Given the description of an element on the screen output the (x, y) to click on. 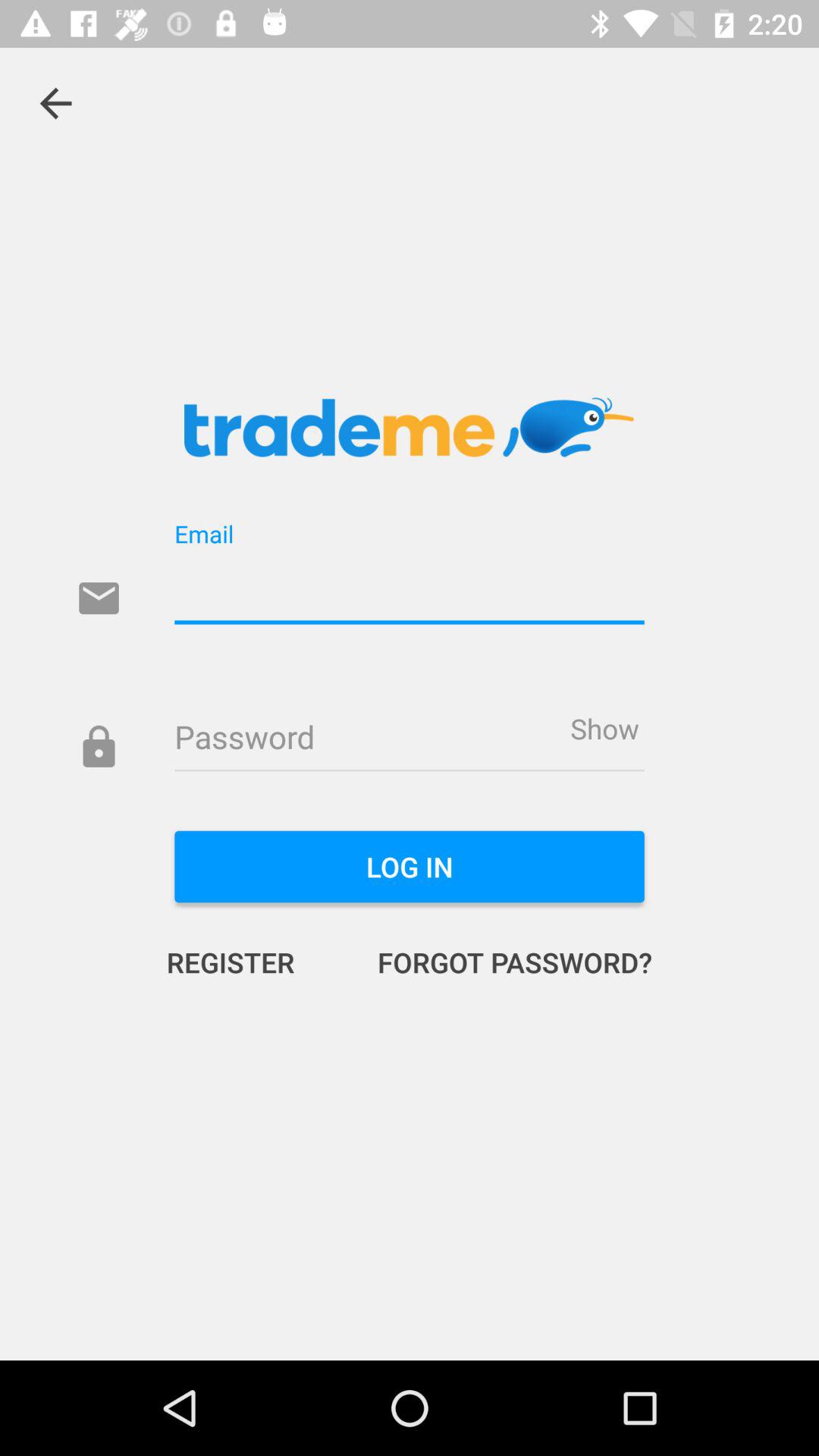
turn on the icon below log in icon (246, 962)
